Given the description of an element on the screen output the (x, y) to click on. 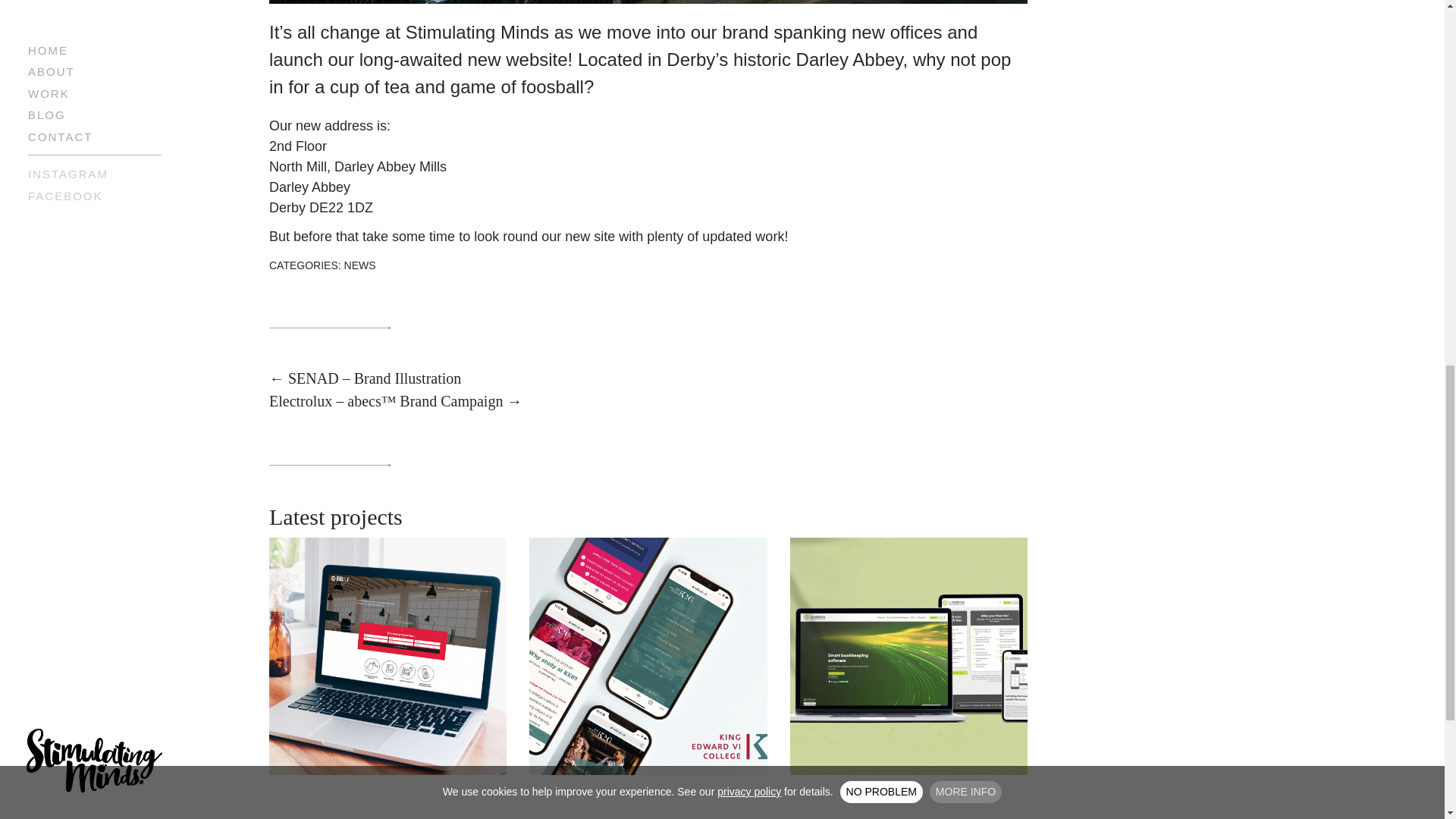
Limebooks (908, 654)
NEWS (359, 265)
WHY WE USE COOKIES (627, 11)
KE6 Online Prospectus (648, 654)
HOW TO MANAGE COOKIES (804, 11)
